Given the description of an element on the screen output the (x, y) to click on. 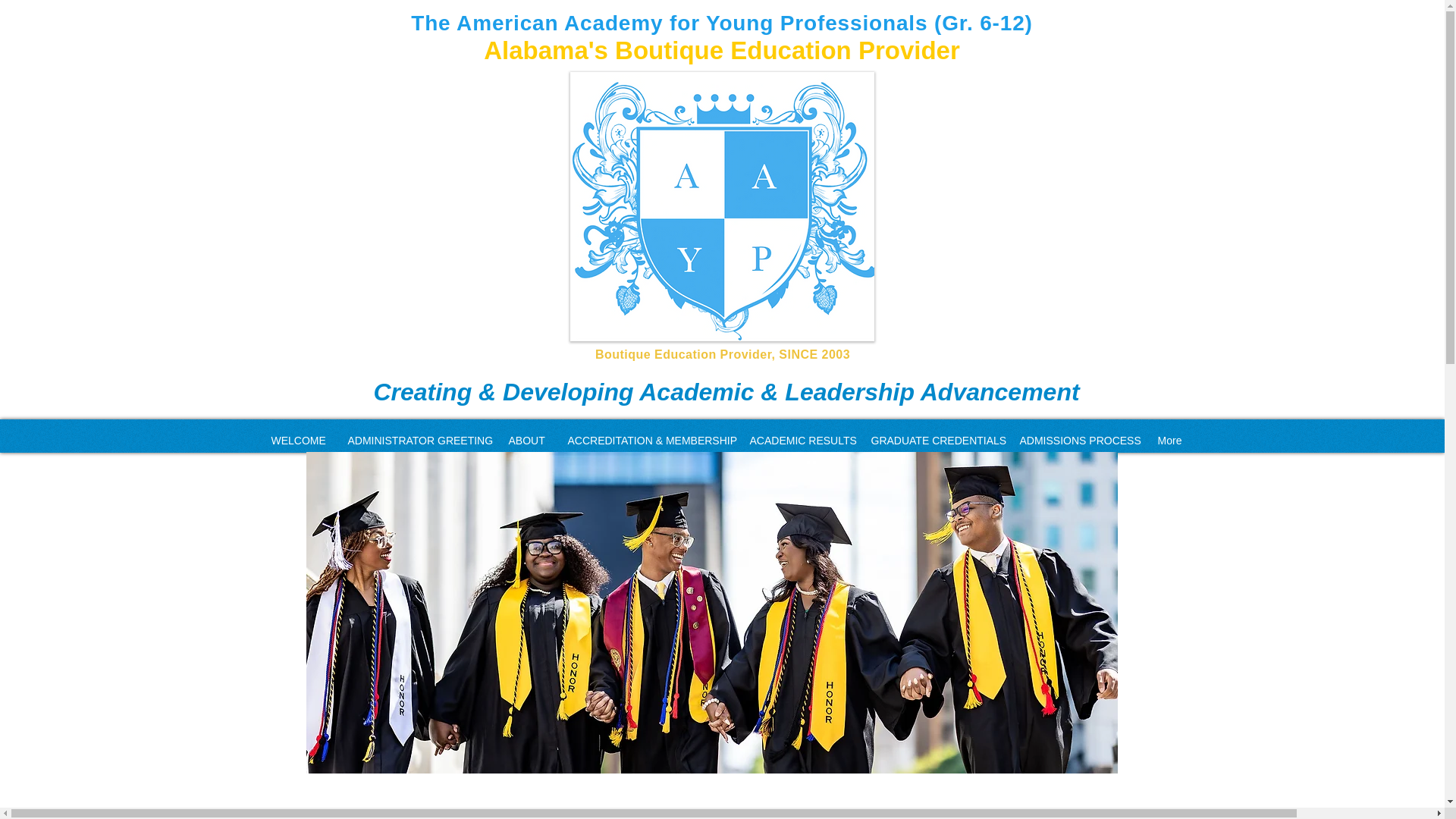
ACADEMIC RESULTS (799, 440)
WELCOME (297, 440)
Edited Image 2017-01-15 03-45-29 (722, 206)
ADMINISTRATOR GREETING (416, 440)
ABOUT (526, 440)
ADMISSIONS PROCESS (1076, 440)
GRADUATE CREDENTIALS (934, 440)
